Given the description of an element on the screen output the (x, y) to click on. 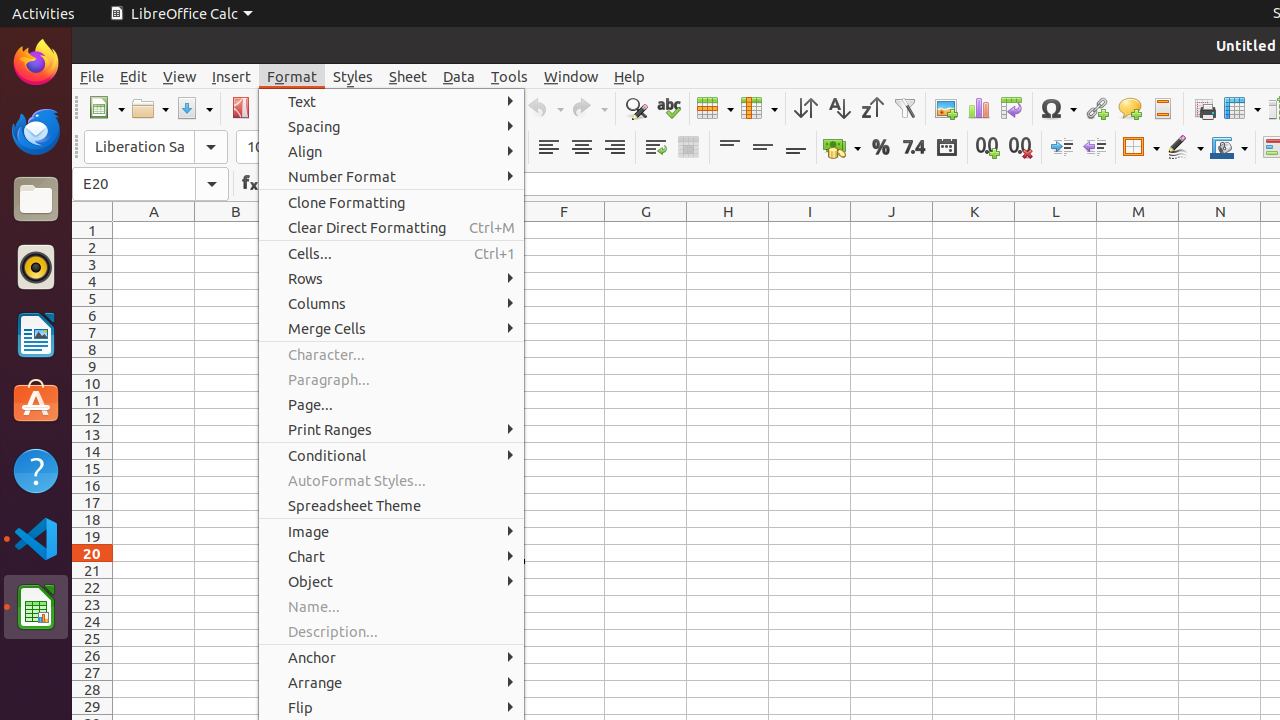
Border Color Element type: push-button (1229, 147)
N1 Element type: table-cell (1220, 230)
Decrease Element type: push-button (1094, 147)
Merge Cells Element type: menu (391, 328)
A1 Element type: table-cell (154, 230)
